Given the description of an element on the screen output the (x, y) to click on. 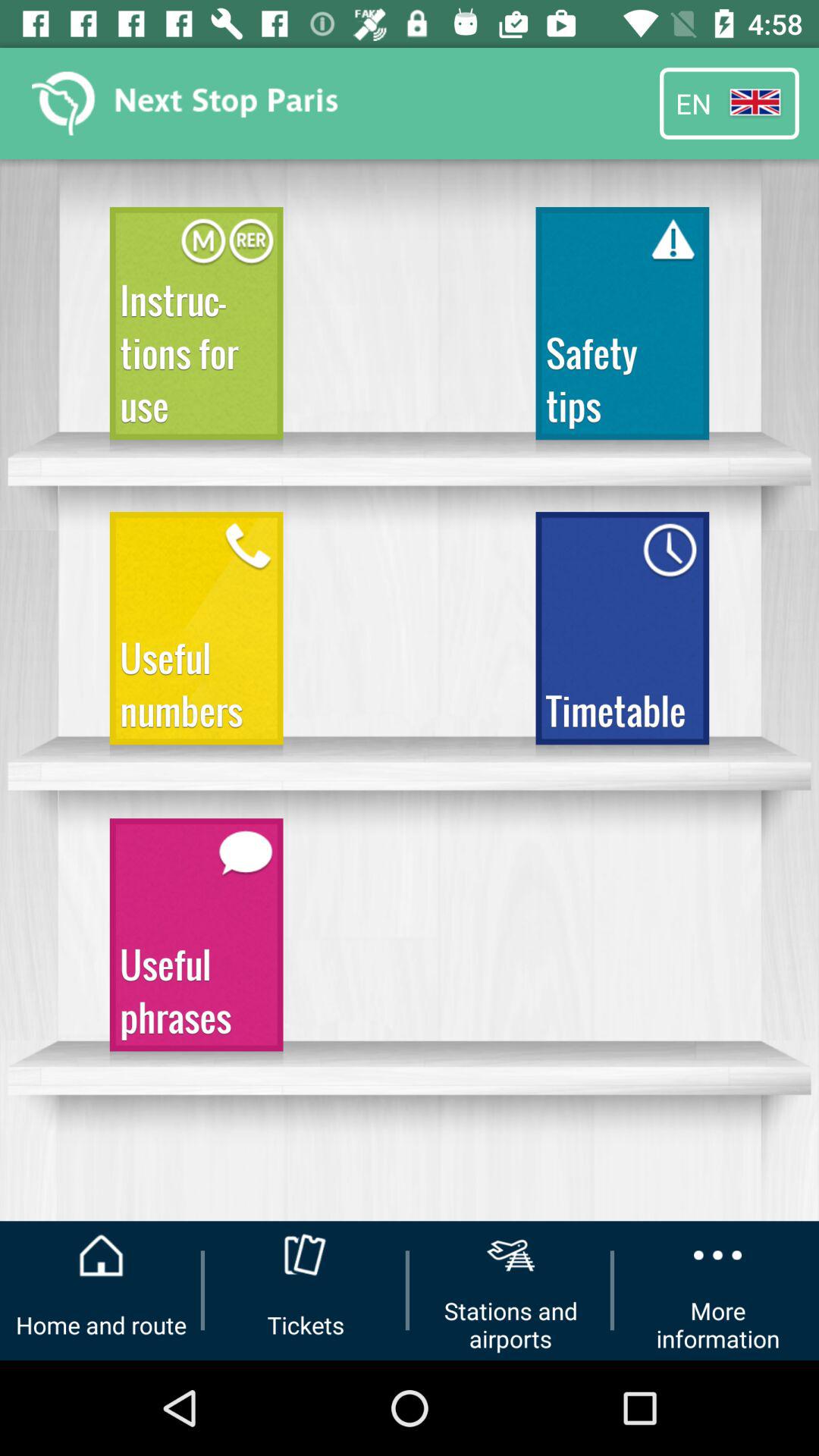
choose the icon above the timetable icon (622, 330)
